Given the description of an element on the screen output the (x, y) to click on. 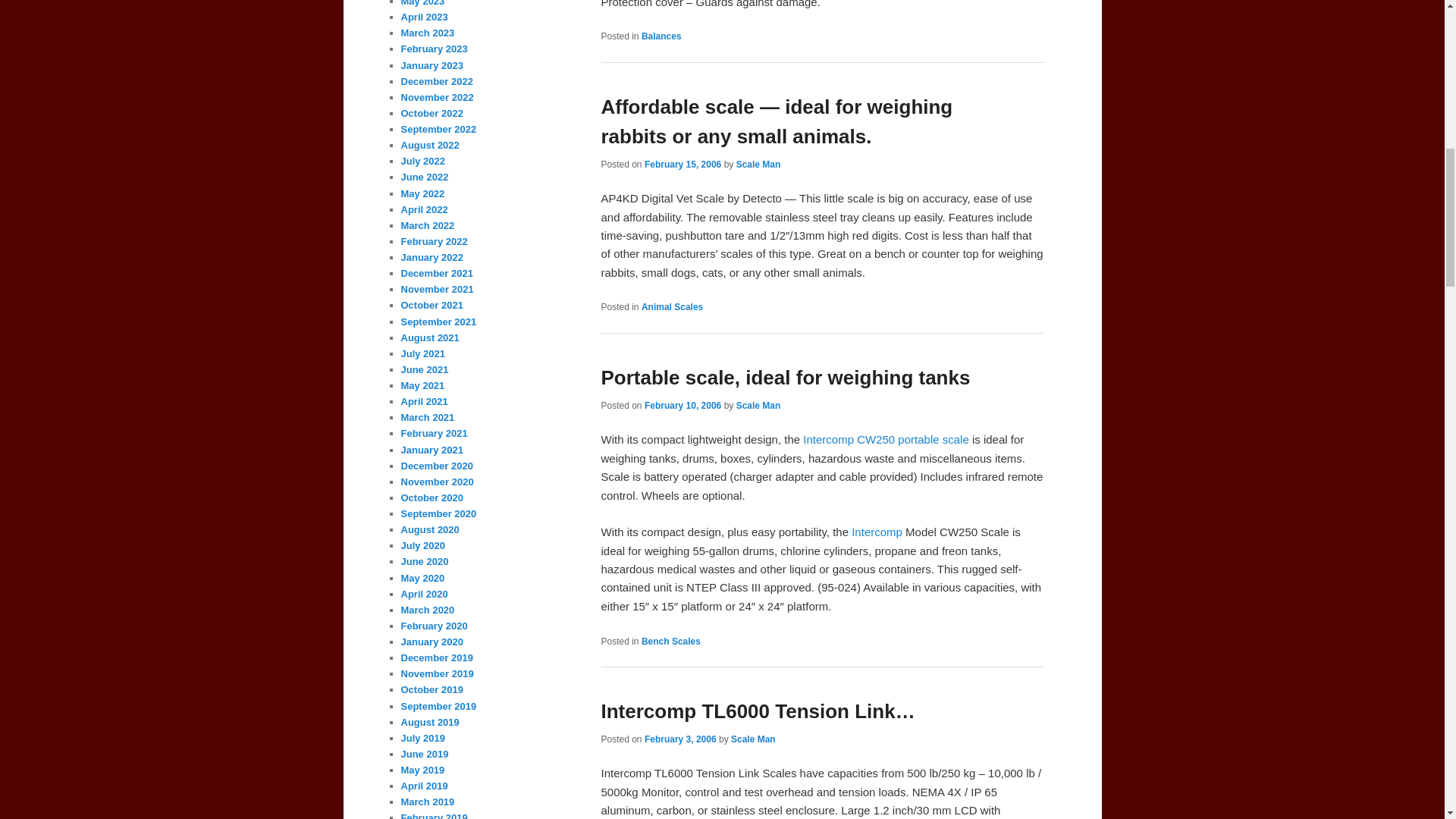
View all posts by Scale Man (753, 738)
Animal Scales (672, 307)
View all posts by Scale Man (758, 163)
Scale Man (753, 738)
Balances (661, 36)
10:14 am (682, 163)
6:25 am (682, 405)
February 15, 2006 (682, 163)
February 3, 2006 (680, 738)
Scale Man (758, 405)
Scale Man (758, 163)
February 10, 2006 (682, 405)
Portable scale, ideal for weighing tanks (784, 377)
7:45 am (680, 738)
Bench Scales (671, 640)
